Given the description of an element on the screen output the (x, y) to click on. 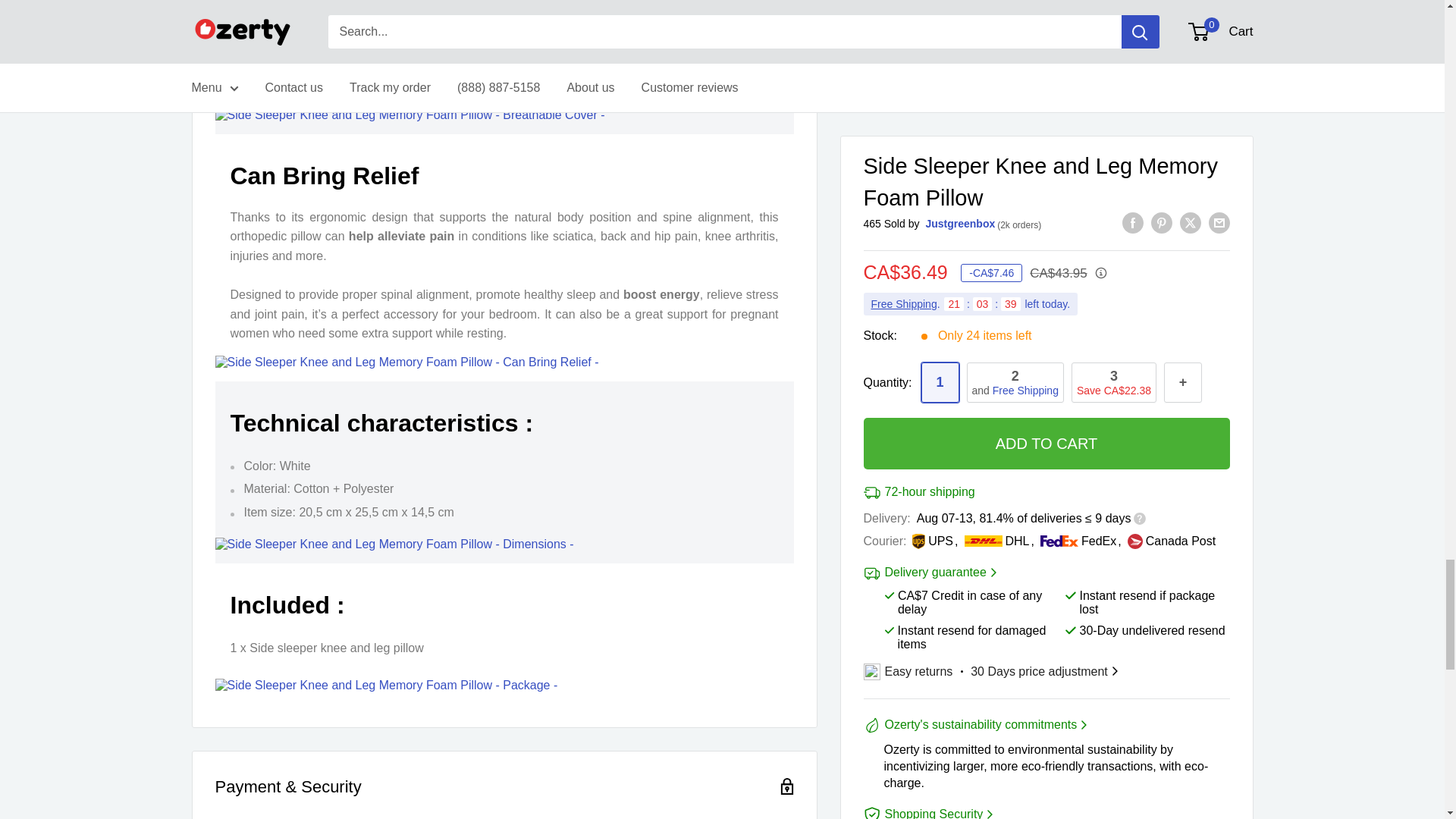
Side Sleeper Knee and Leg Memory Foam Pillow - Dimensions -  (394, 544)
Side Sleeper Knee and Leg Memory Foam Pillow - Package -  (386, 685)
